Given the description of an element on the screen output the (x, y) to click on. 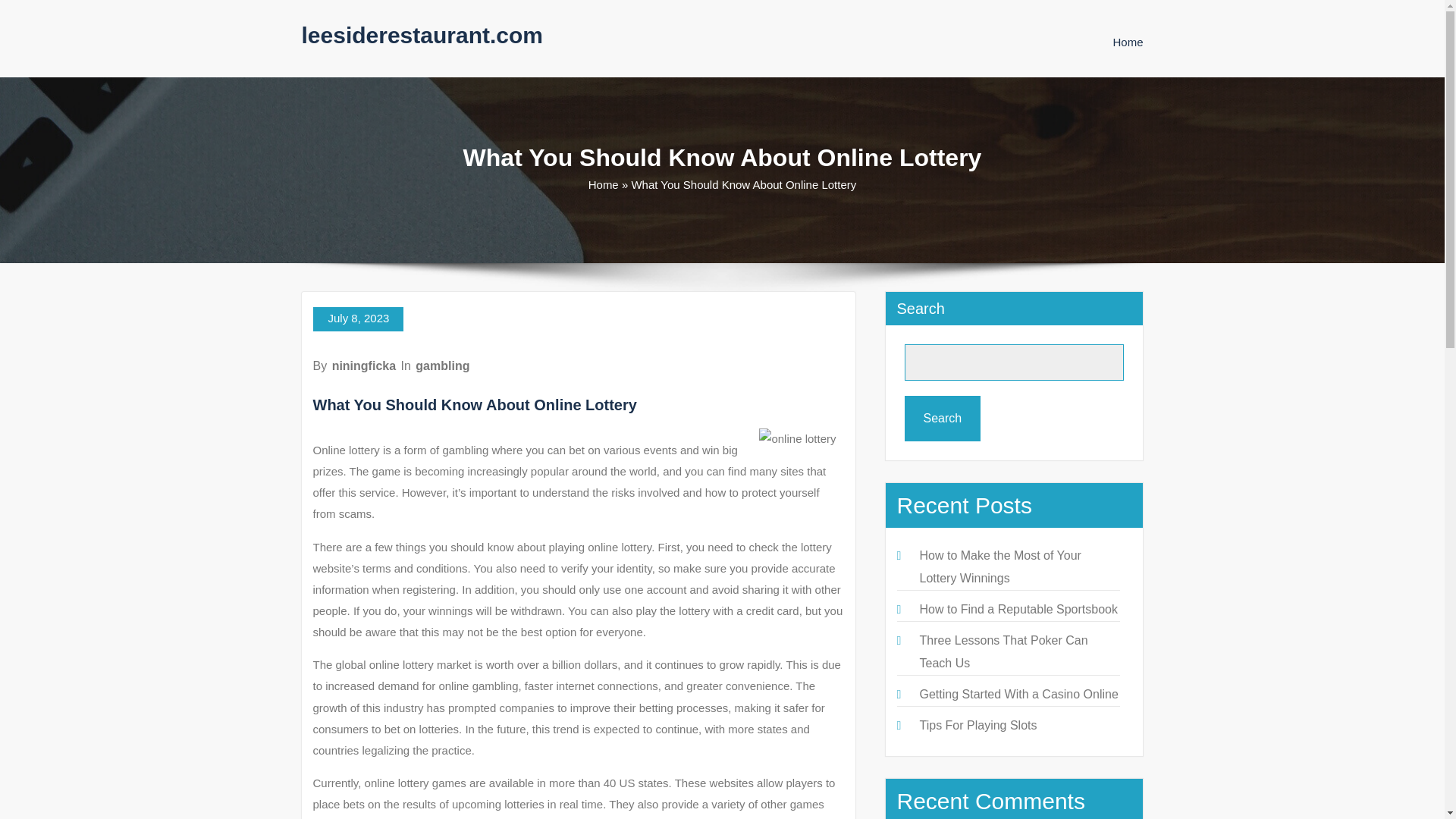
leesiderestaurant.com (422, 34)
Home (1127, 41)
gambling (441, 365)
How to Make the Most of Your Lottery Winnings (999, 566)
Three Lessons That Poker Can Teach Us (1002, 651)
Tips For Playing Slots (977, 725)
niningficka (363, 365)
Getting Started With a Casino Online (1018, 694)
July 8, 2023 (358, 319)
Home (603, 184)
Home (1127, 41)
How to Find a Reputable Sportsbook (1017, 608)
Search (941, 418)
